Given the description of an element on the screen output the (x, y) to click on. 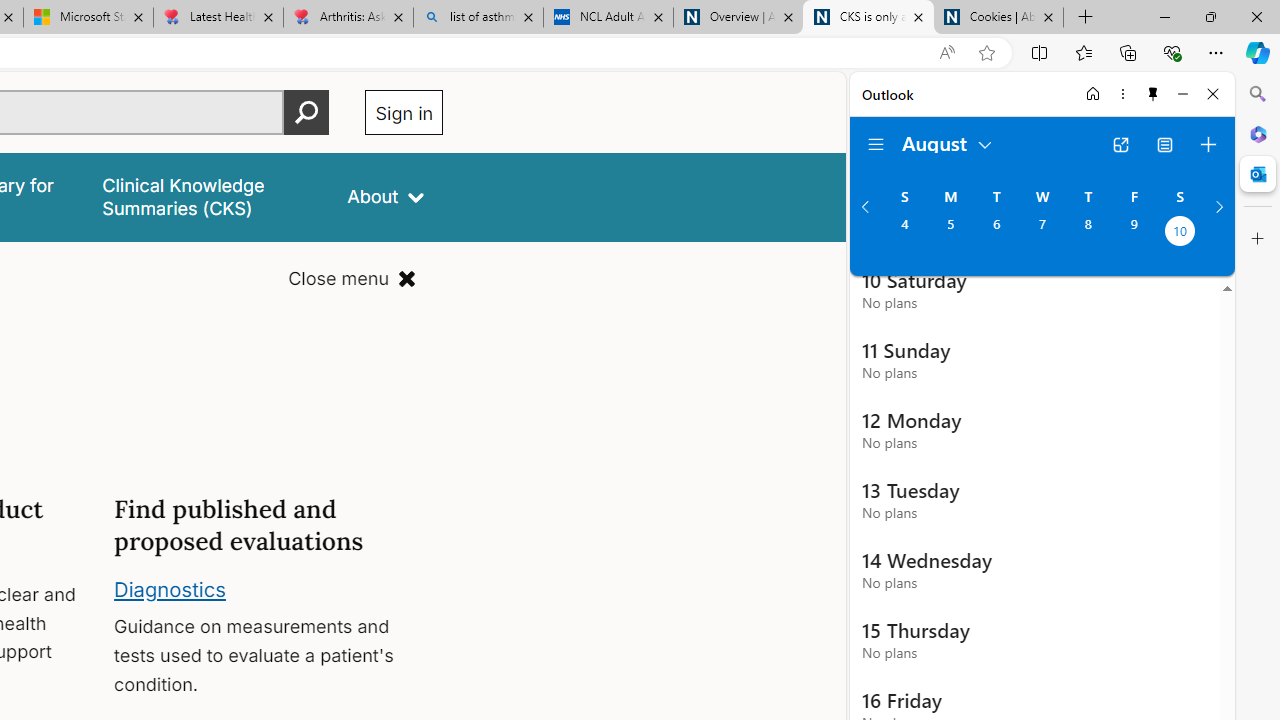
Cookies | About | NICE (998, 17)
Thursday, August 8, 2024.  (1088, 233)
Tuesday, August 6, 2024.  (996, 233)
Folder navigation (876, 144)
Sunday, August 4, 2024.  (904, 233)
Open in new tab (1120, 144)
false (207, 196)
